Given the description of an element on the screen output the (x, y) to click on. 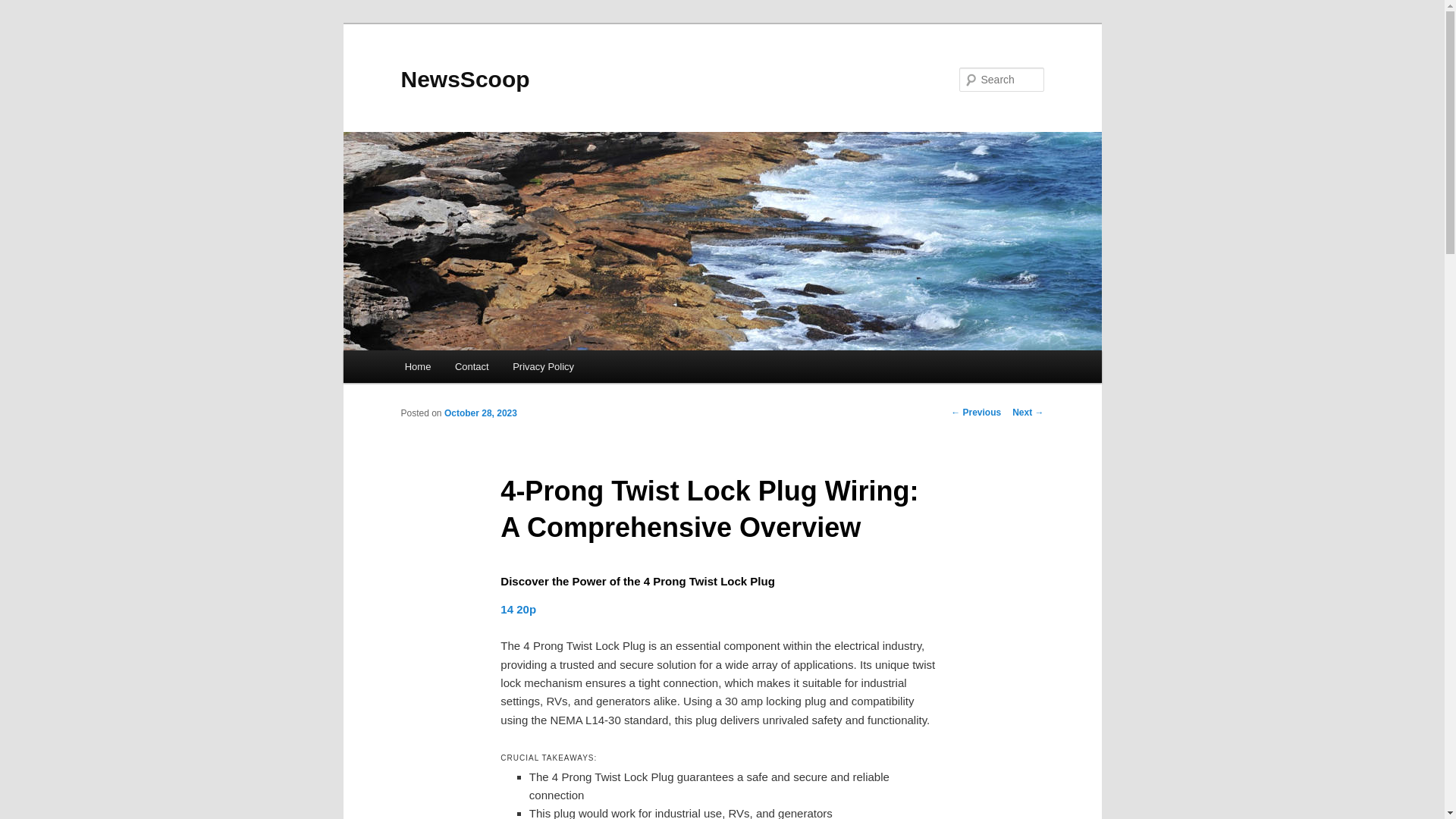
Privacy Policy (542, 366)
Home (417, 366)
Search (24, 8)
October 28, 2023 (480, 412)
NewsScoop (464, 78)
1:58 am (480, 412)
Contact (471, 366)
14 20p (517, 608)
